Given the description of an element on the screen output the (x, y) to click on. 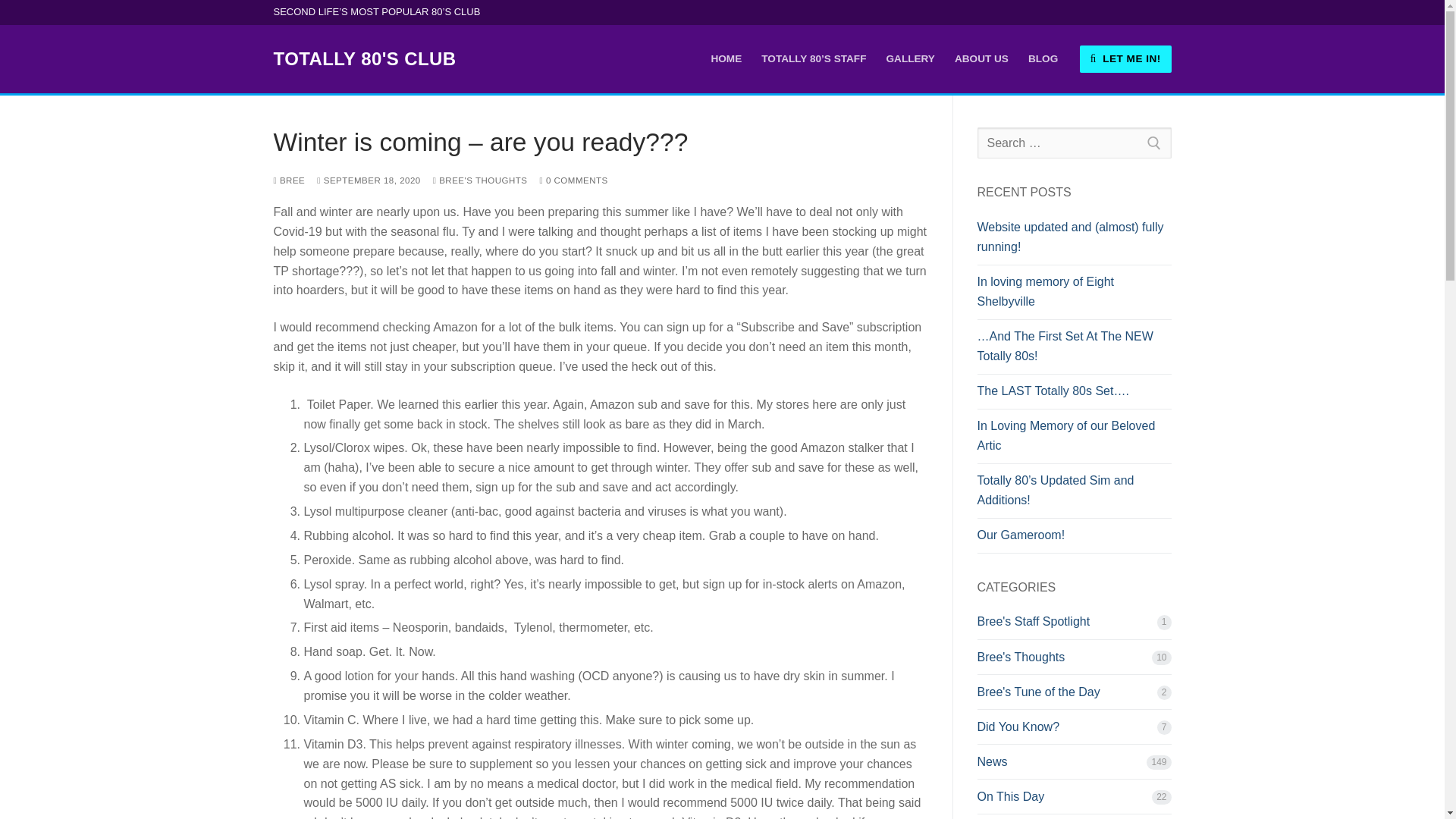
GALLERY (909, 59)
TOTALLY 80'S CLUB (364, 58)
SEPTEMBER 18, 2020 (368, 180)
Search for: (1073, 142)
ABOUT US (980, 59)
0 COMMENTS (574, 180)
HOME (725, 59)
LET ME IN! (1125, 59)
BREE'S THOUGHTS (479, 180)
BLOG (1042, 59)
BREE (288, 180)
